Given the description of an element on the screen output the (x, y) to click on. 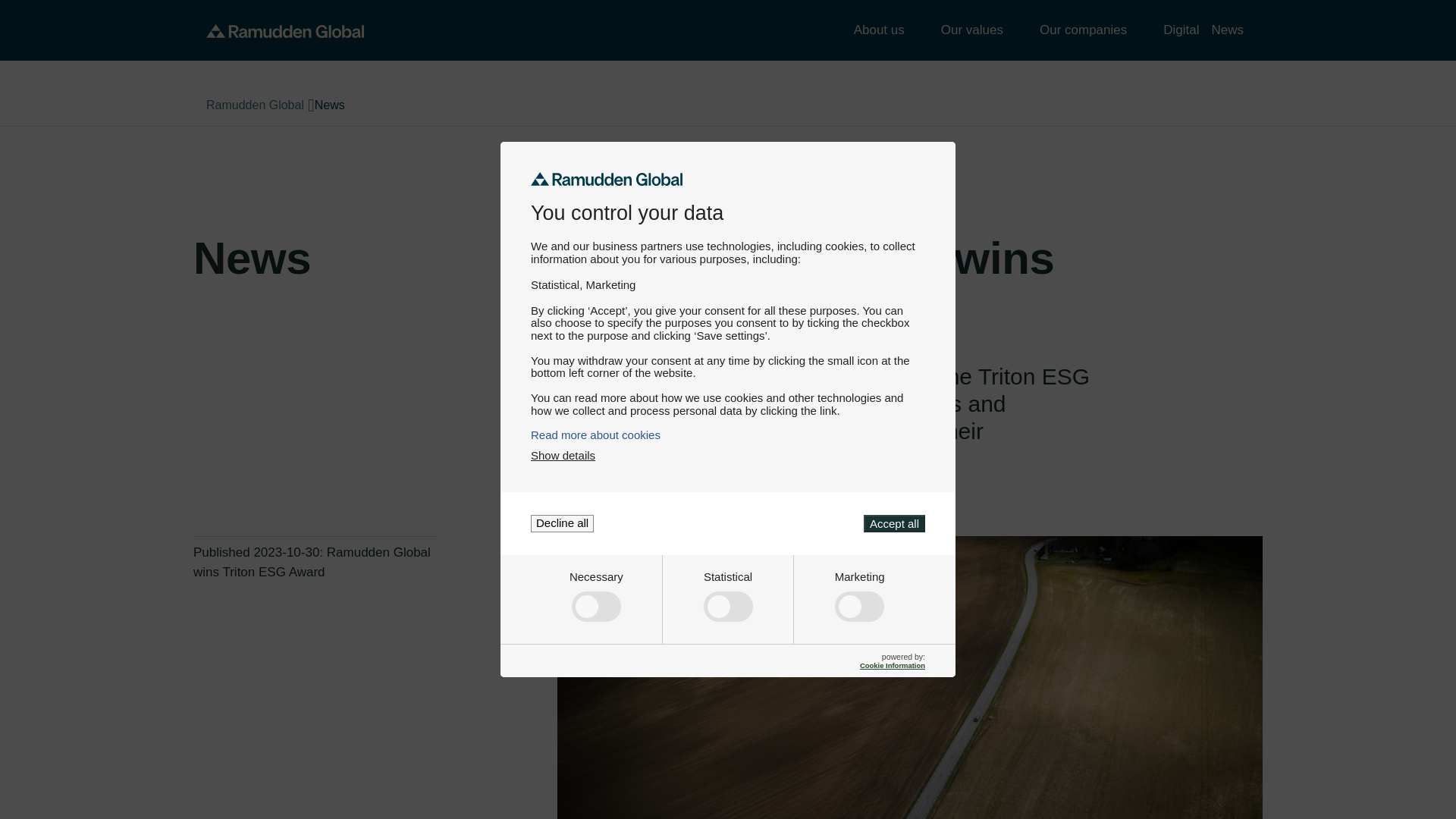
Cookie Information (892, 664)
Ramudden Global (285, 30)
Show details (563, 454)
Accept all (893, 523)
Decline all (562, 523)
Read more about cookies (727, 434)
